Given the description of an element on the screen output the (x, y) to click on. 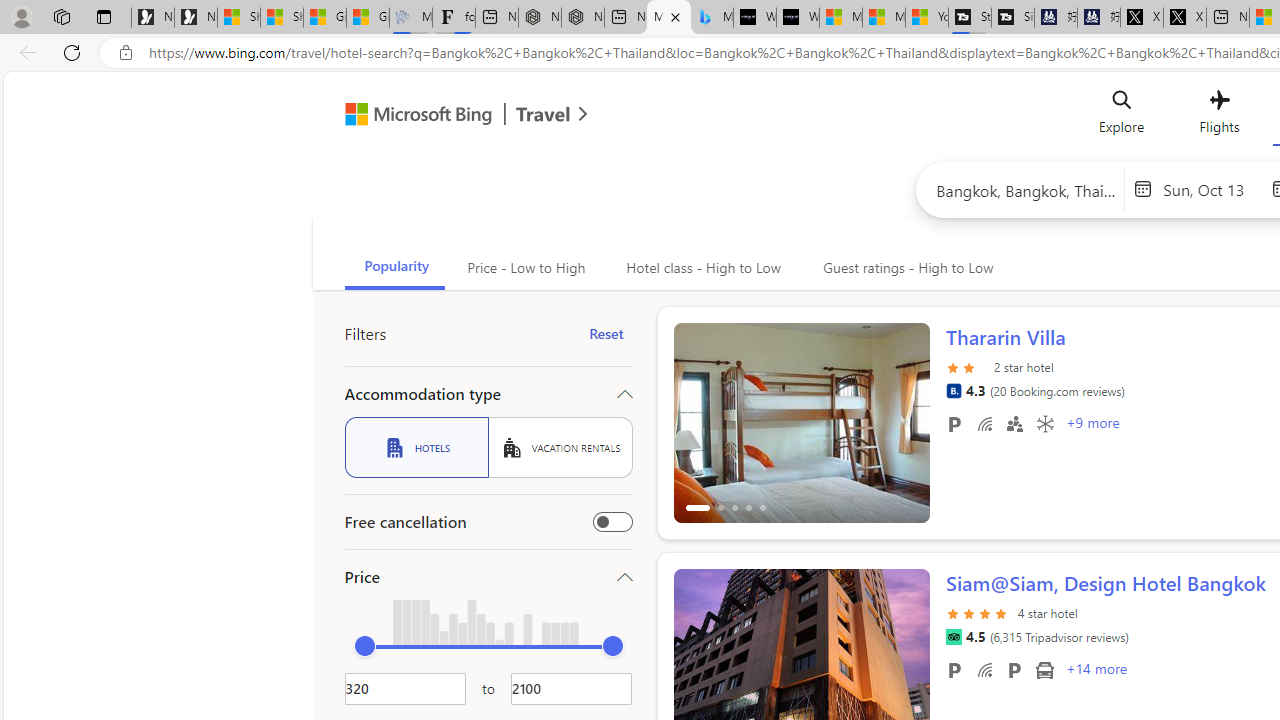
Hotel class - High to Low (701, 268)
star rating (978, 612)
+9 More Amenities (1092, 425)
Popularity (394, 268)
Family friendly (1014, 423)
Microsoft Bing Travel (445, 116)
VACATION RENTALS (560, 447)
Newsletter Sign Up (196, 17)
min  (364, 645)
